Given the description of an element on the screen output the (x, y) to click on. 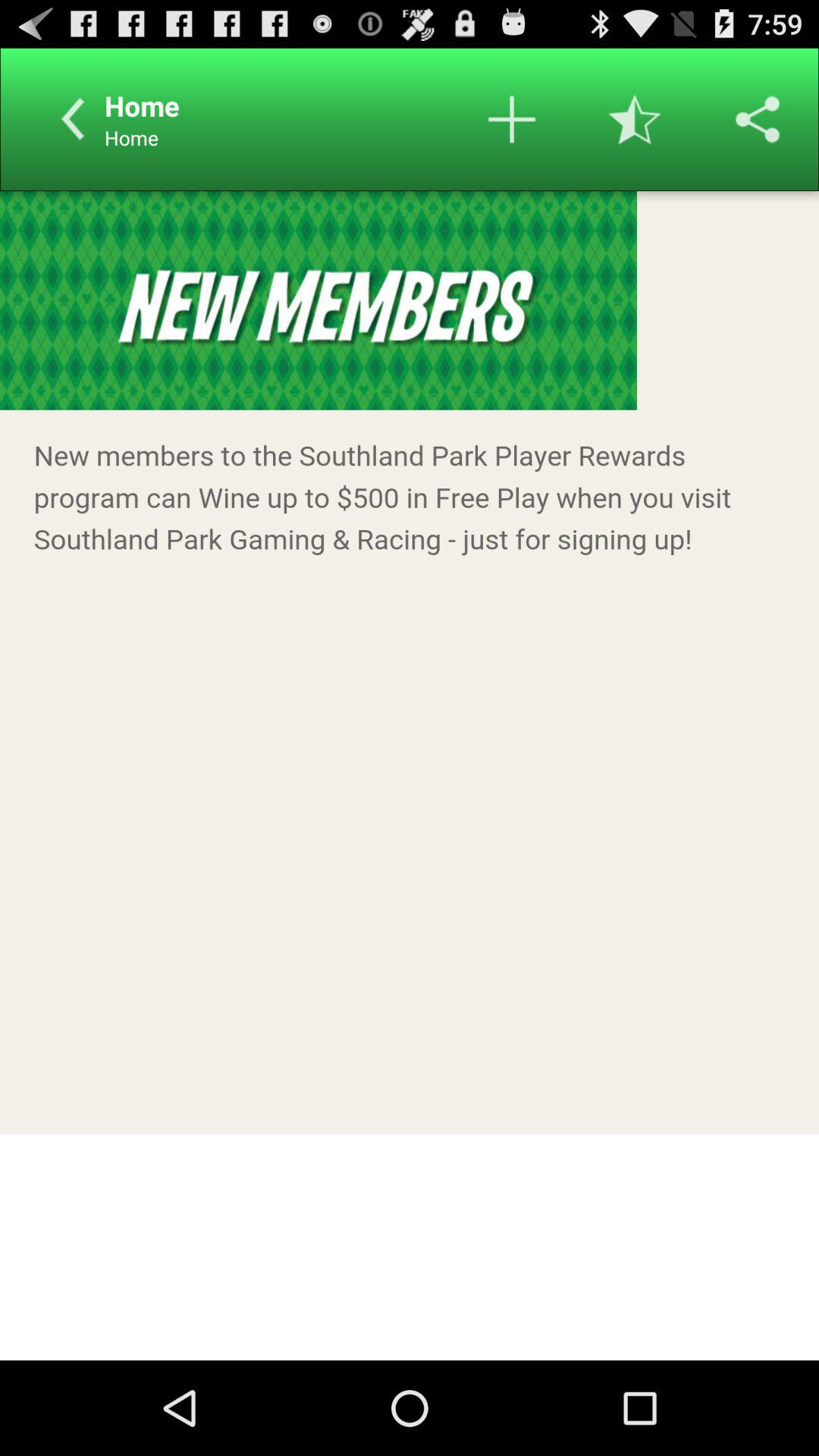
add ratings (634, 119)
